Given the description of an element on the screen output the (x, y) to click on. 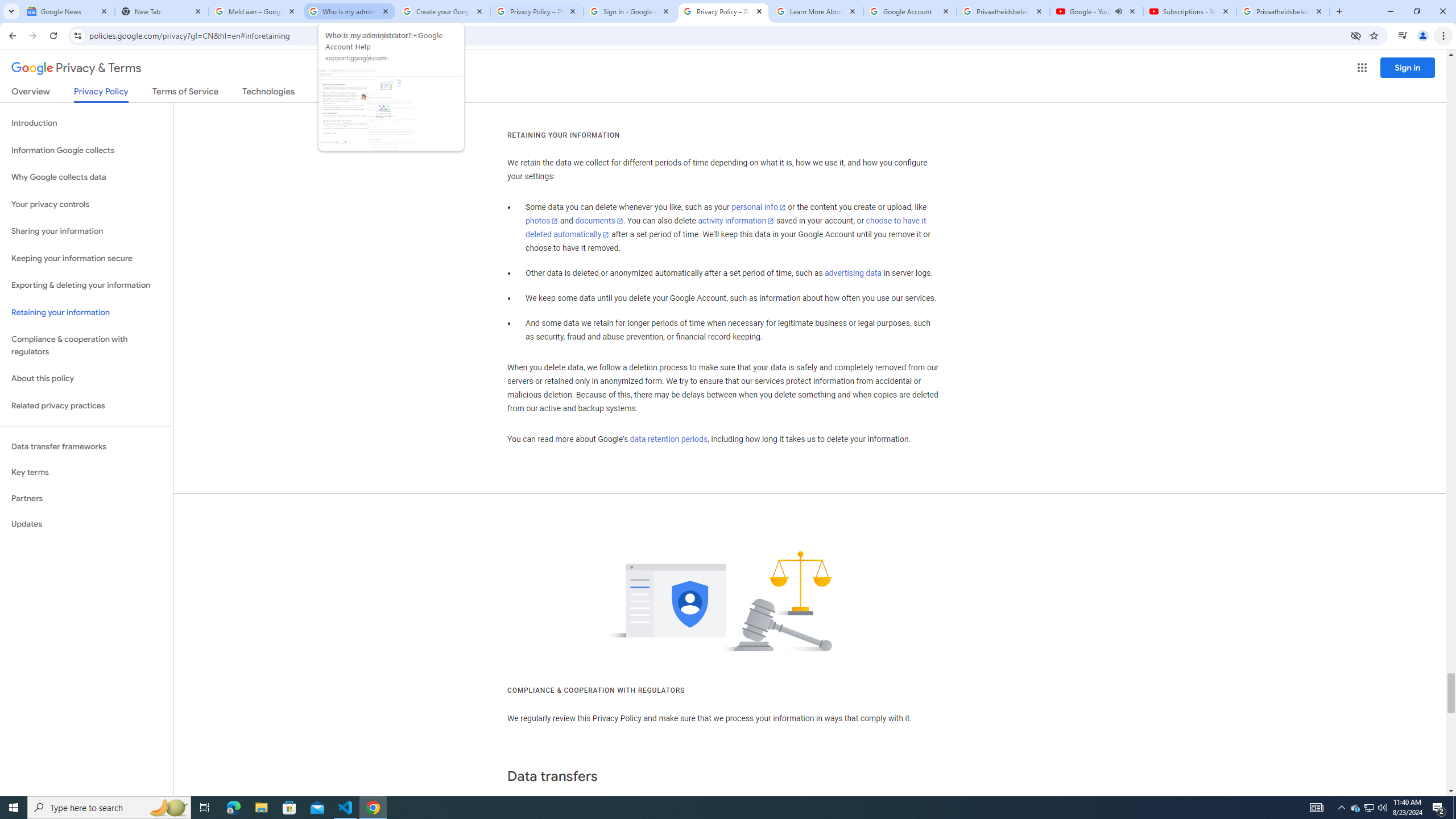
personal info (758, 207)
Create your Google Account (443, 11)
choose to have it deleted automatically (725, 227)
data retention periods (667, 439)
